Given the description of an element on the screen output the (x, y) to click on. 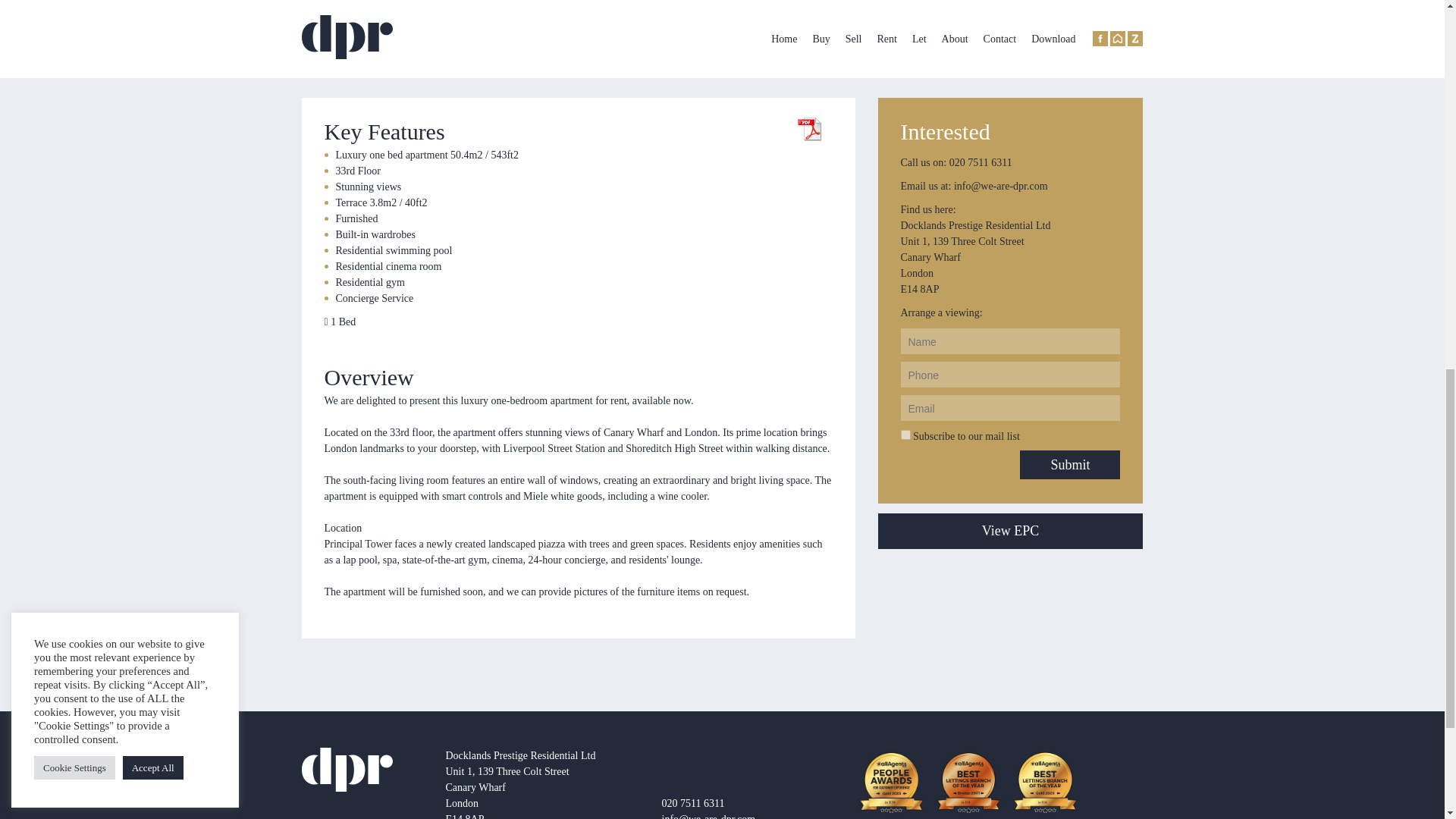
Submit (1069, 464)
1 (906, 434)
View PDF (809, 128)
Submit (1069, 464)
View EPC (1009, 530)
